Given the description of an element on the screen output the (x, y) to click on. 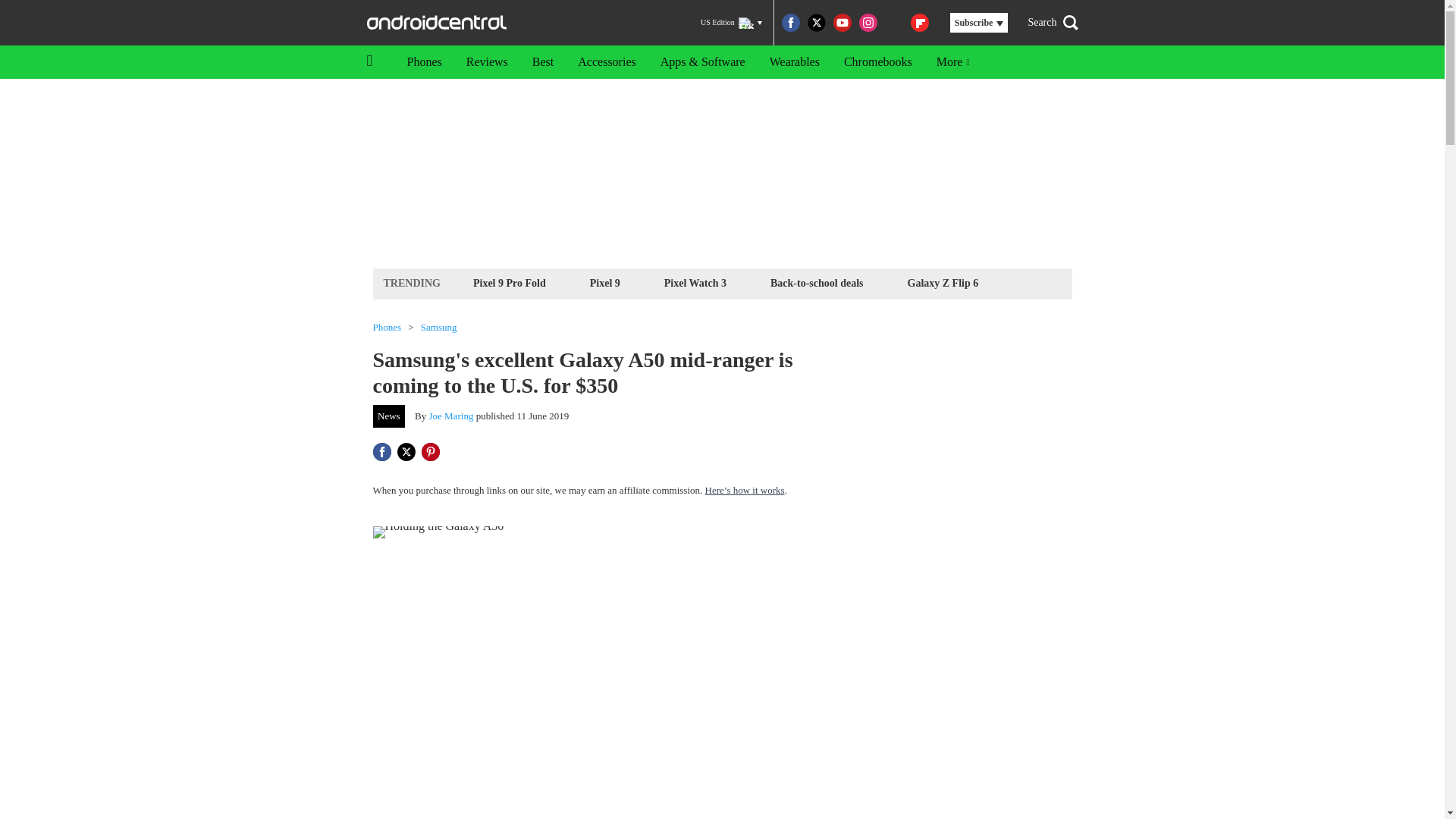
Wearables (794, 61)
Accessories (606, 61)
Phones (423, 61)
Phones (386, 327)
Pixel 9 (605, 282)
Pixel 9 Pro Fold (509, 282)
Best (542, 61)
Reviews (486, 61)
Chromebooks (877, 61)
Joe Maring (451, 415)
